Given the description of an element on the screen output the (x, y) to click on. 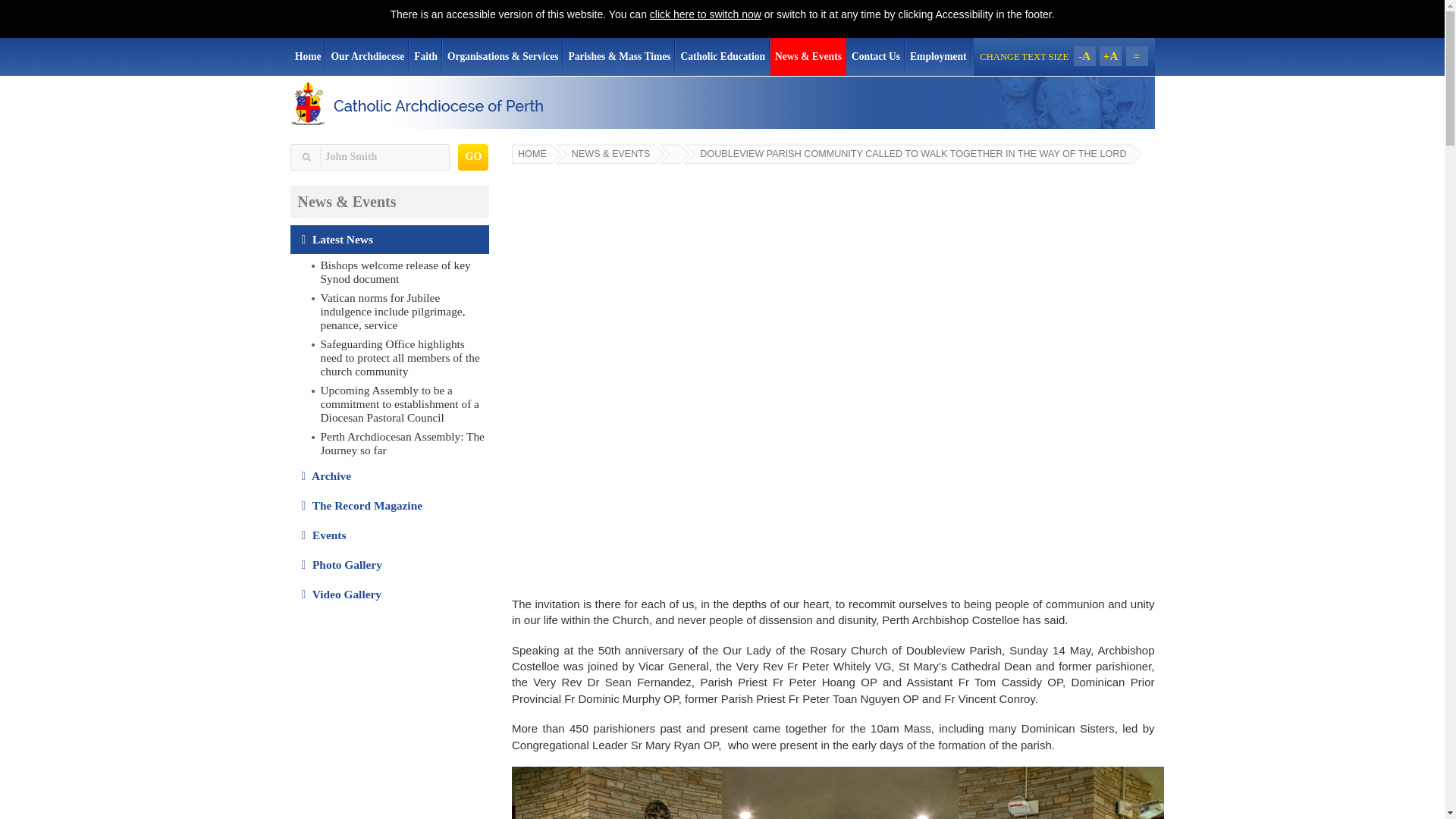
 Archive (389, 475)
Home (307, 56)
GO (472, 157)
Perth Archdiocesan Assembly: The Journey so far (398, 443)
GO (472, 157)
click here to switch now (705, 14)
Accessibility (705, 14)
Employment (938, 56)
Archive (389, 475)
Catholic Education (722, 56)
-A (1085, 55)
